Given the description of an element on the screen output the (x, y) to click on. 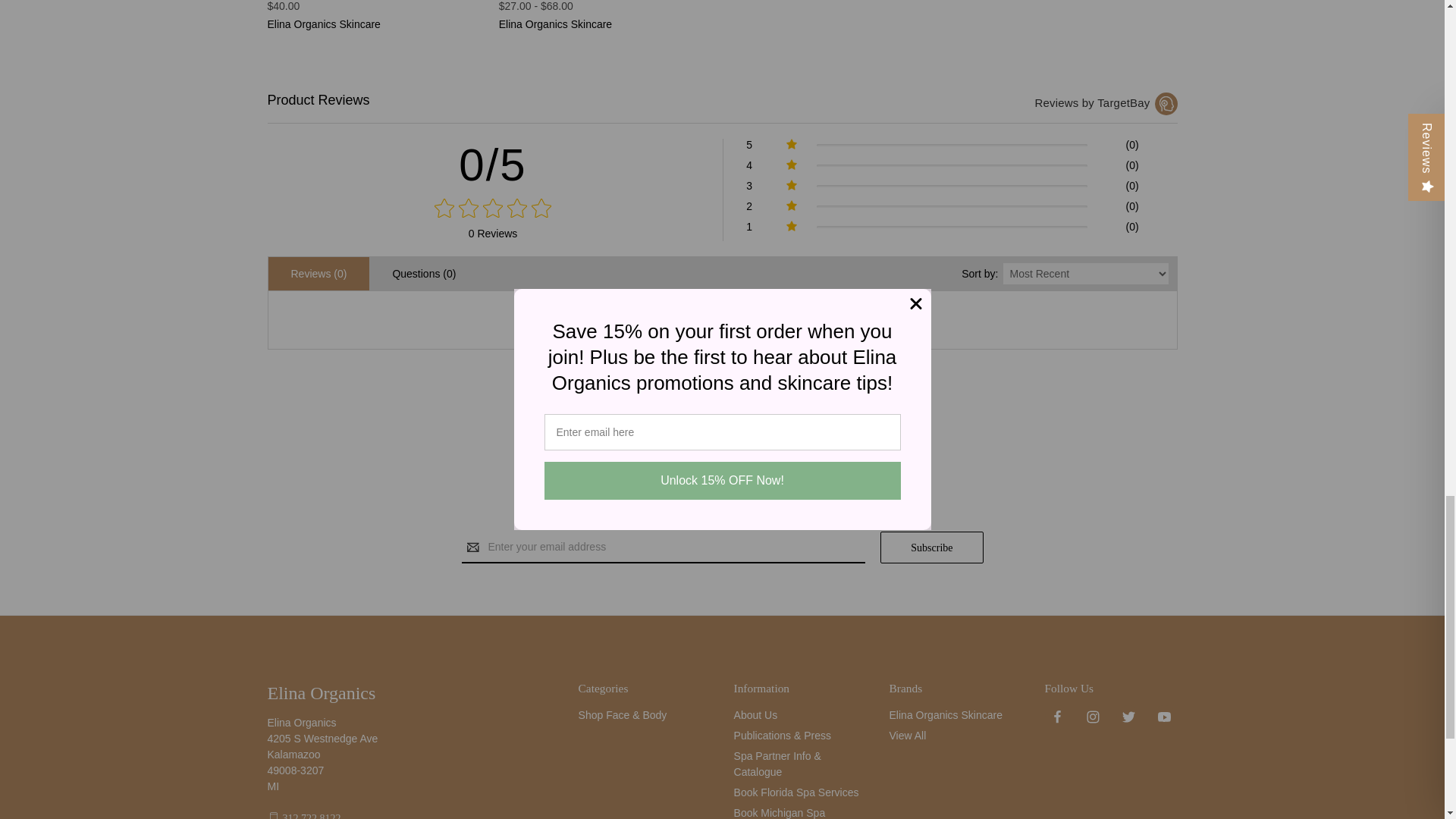
Be the first to write a review (721, 327)
Subscribe (931, 547)
TargetBay (1165, 103)
